Given the description of an element on the screen output the (x, y) to click on. 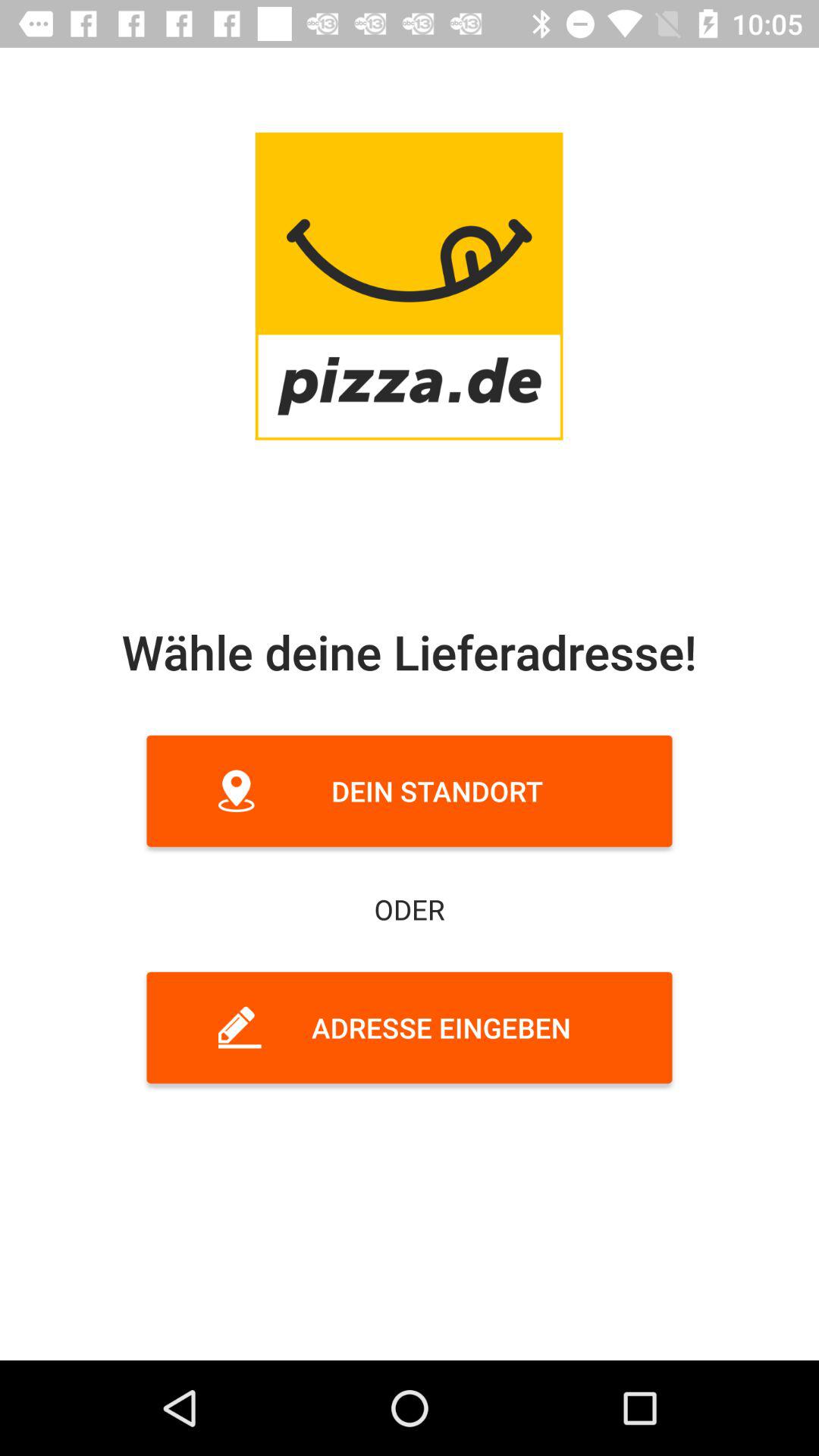
launch icon below the oder (409, 1027)
